Given the description of an element on the screen output the (x, y) to click on. 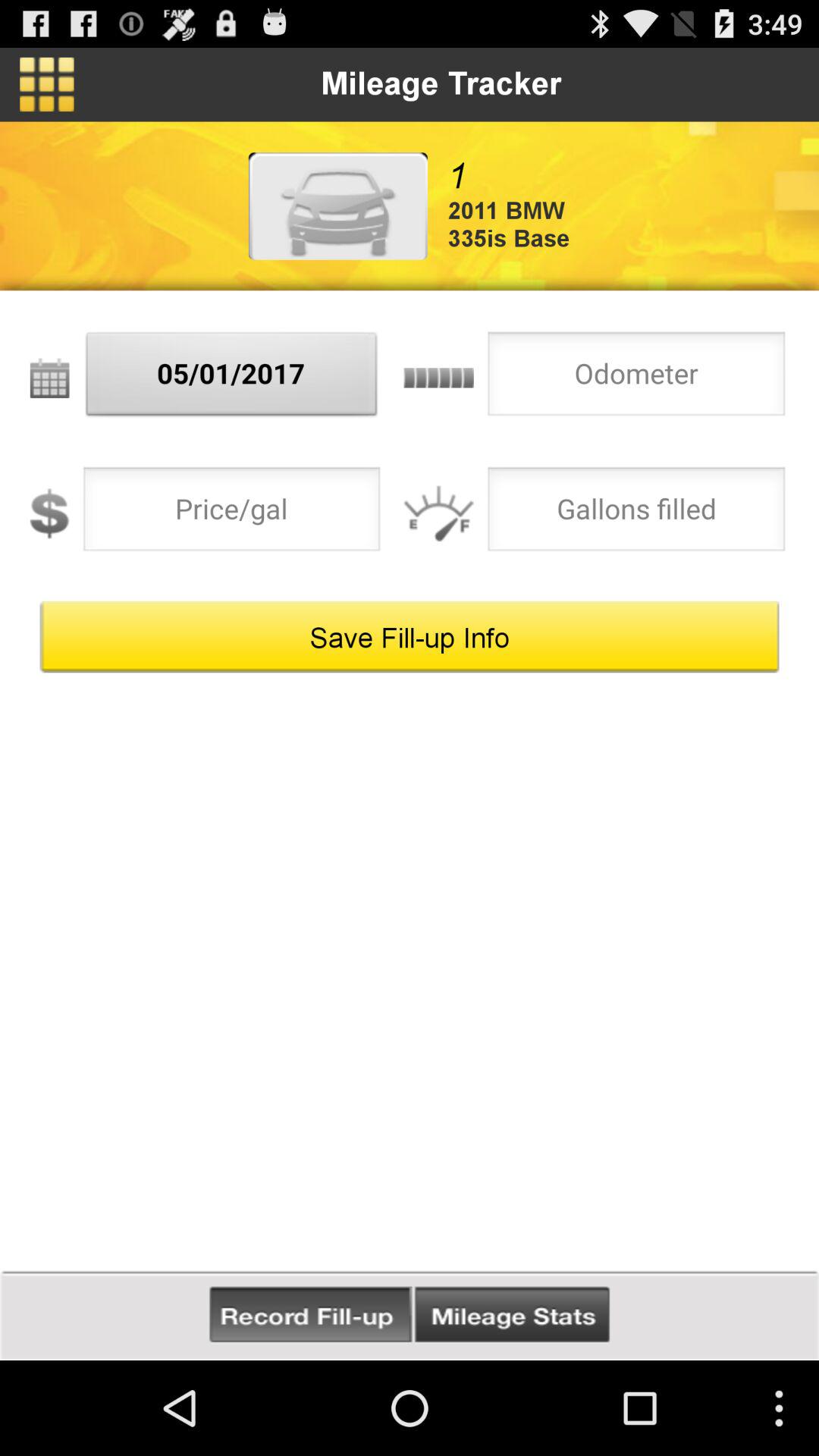
check mileage stats (511, 1315)
